Given the description of an element on the screen output the (x, y) to click on. 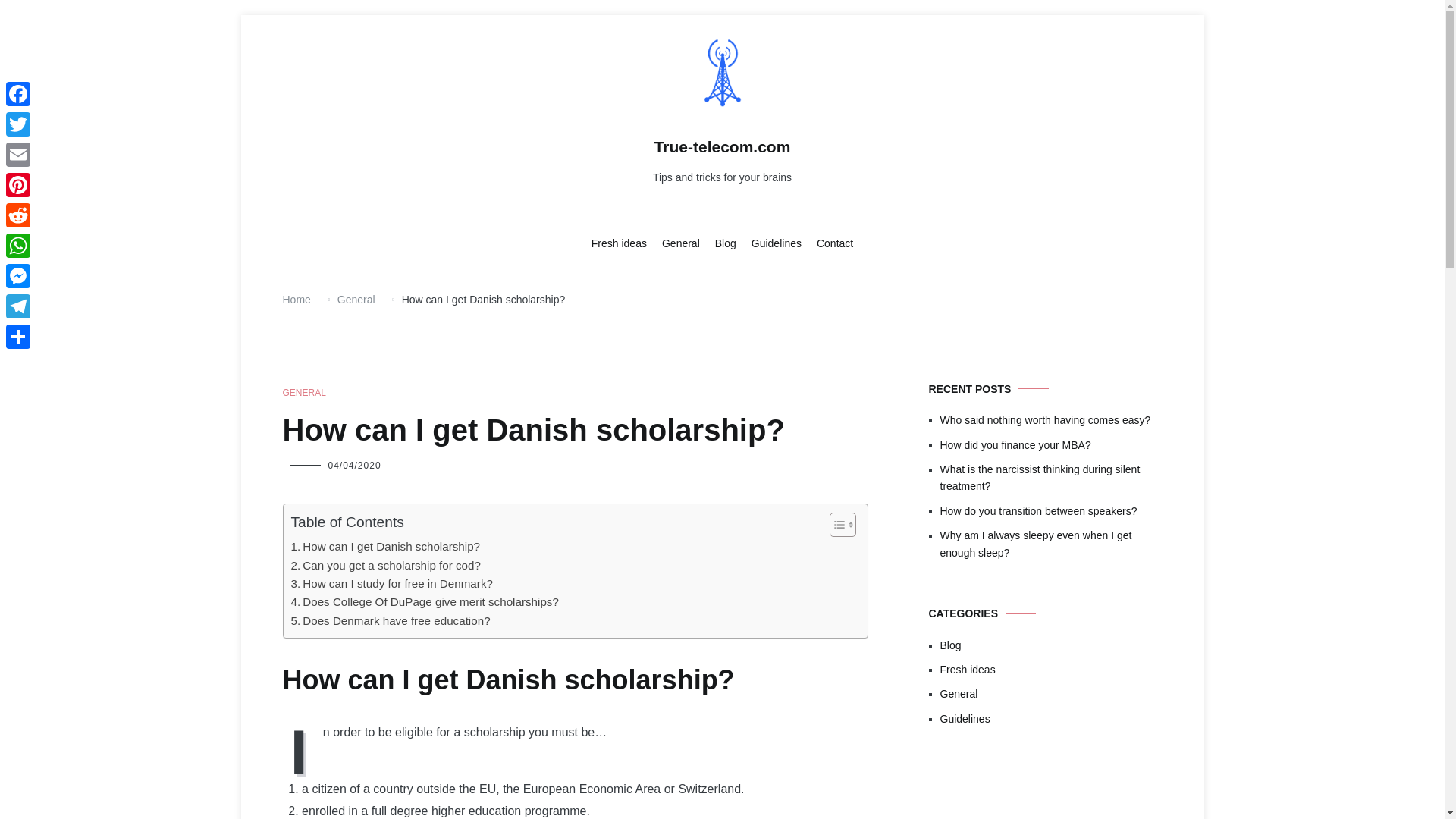
Can you get a scholarship for cod? (385, 565)
How did you finance your MBA? (1050, 444)
Fresh ideas (618, 244)
Does Denmark have free education? (390, 620)
Email (17, 154)
Does College Of DuPage give merit scholarships? (425, 601)
How can I study for free in Denmark? (392, 583)
How can I get Danish scholarship? (385, 546)
Home (296, 299)
